Given the description of an element on the screen output the (x, y) to click on. 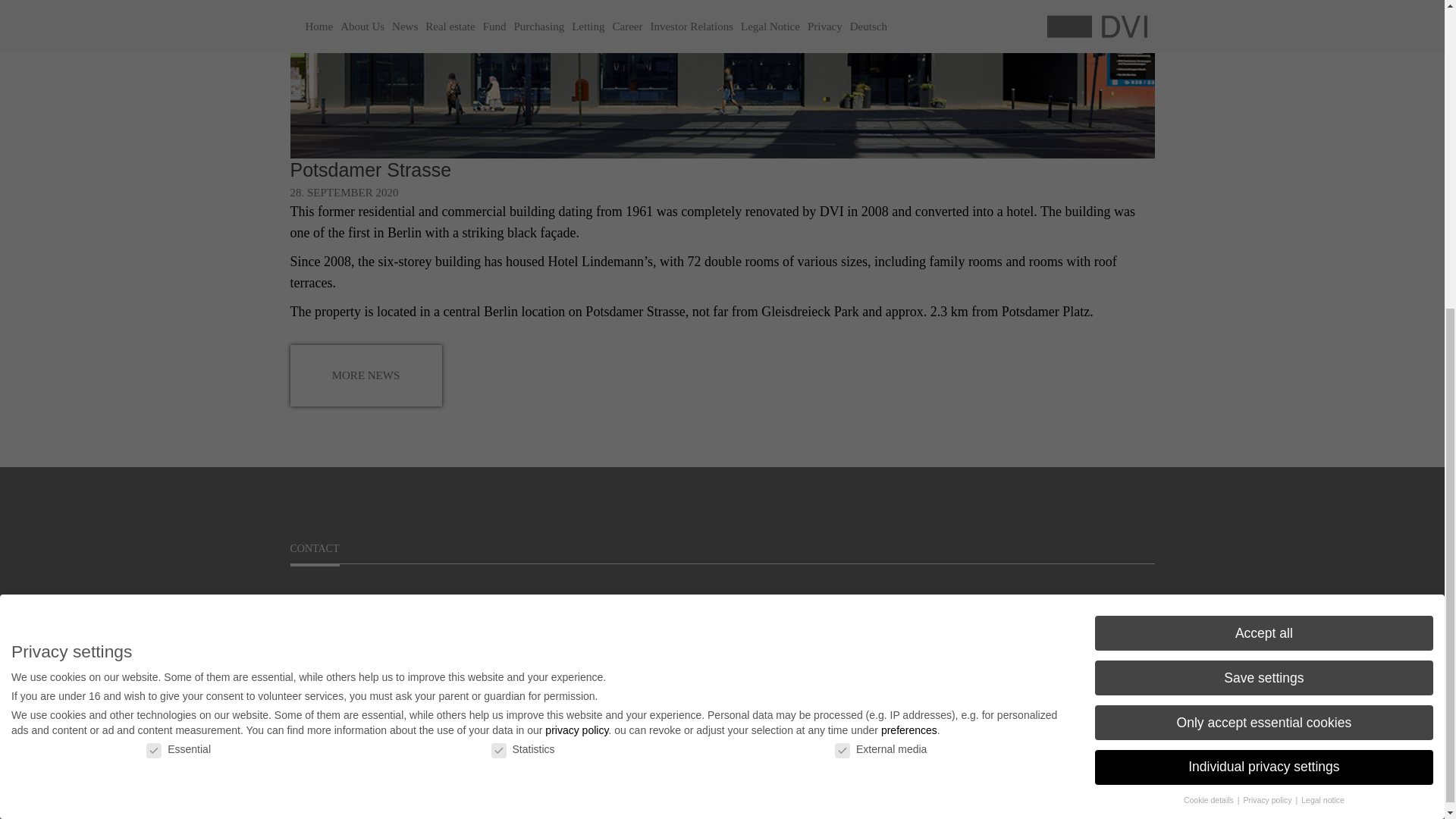
preferences (908, 236)
LEGAL NOTICE (969, 631)
MORE NEWS (365, 375)
Potsdamer Strasse (370, 169)
DATA PROTECTION (979, 662)
privacy policy (576, 236)
Potsdamer Strasse (370, 169)
